Given the description of an element on the screen output the (x, y) to click on. 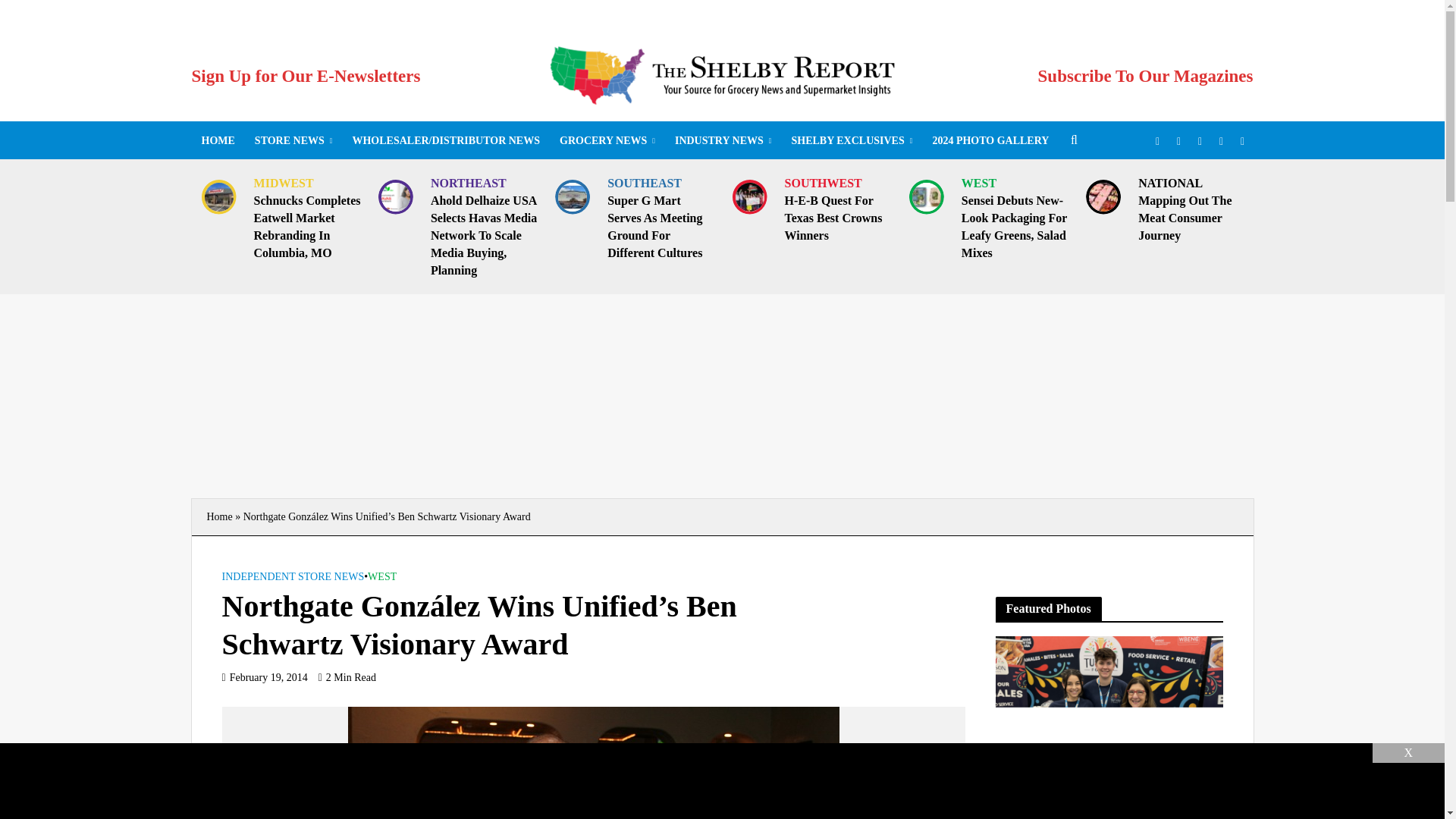
INDUSTRY NEWS (723, 140)
HOME (217, 140)
STORE NEWS (293, 140)
Sign Up for Our E-Newsletters (305, 76)
SHELBY EXCLUSIVES (850, 140)
GROCERY NEWS (607, 140)
Subscribe To Our Magazines (1145, 76)
